Given the description of an element on the screen output the (x, y) to click on. 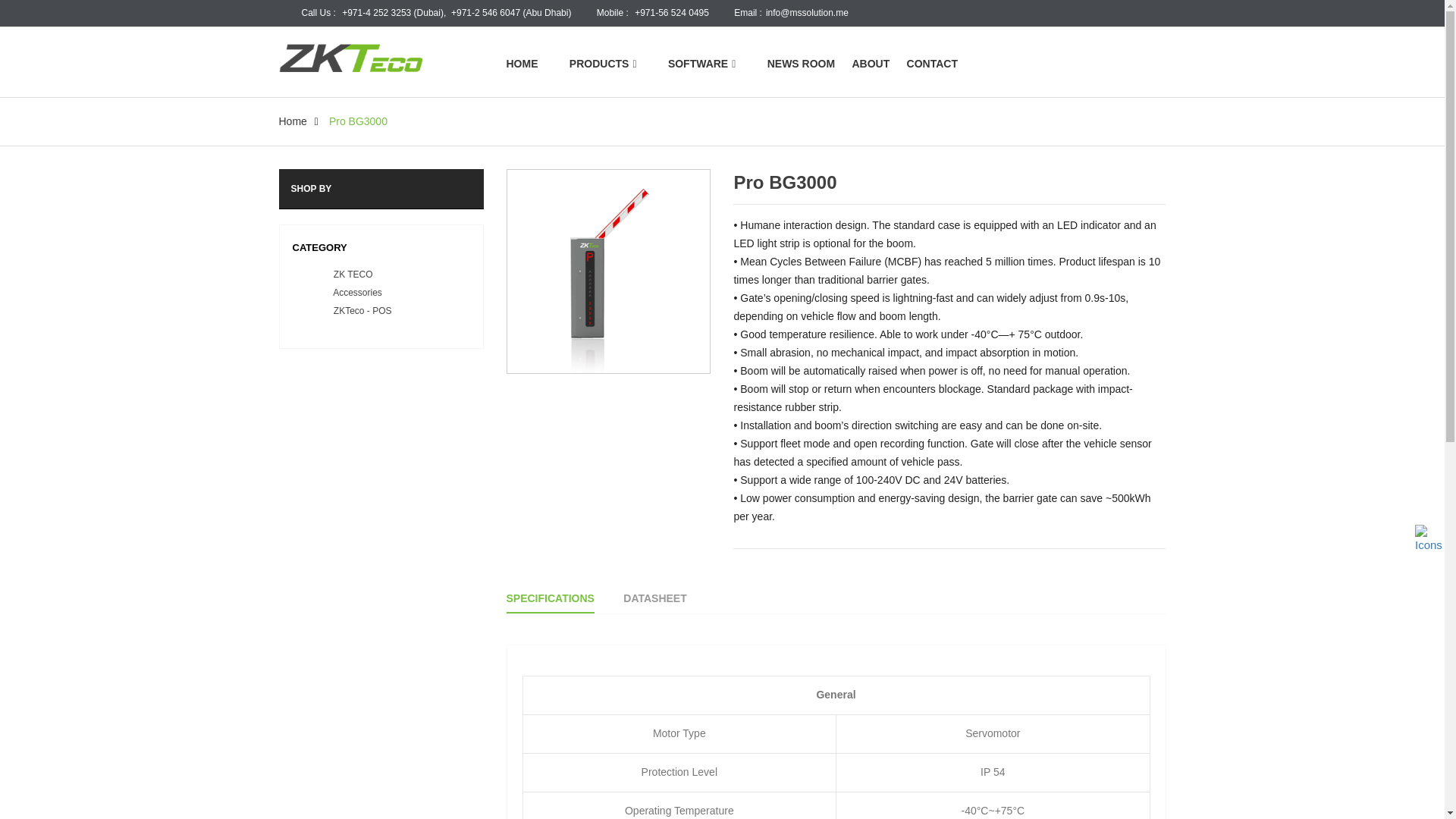
HOME (529, 63)
Go to Home Page (293, 121)
NEWS ROOM (800, 63)
CONTACT (939, 63)
SOFTWARE (701, 63)
Marhaba Star Solution Logo (381, 56)
ABOUT (877, 63)
PRODUCTS (602, 63)
